Given the description of an element on the screen output the (x, y) to click on. 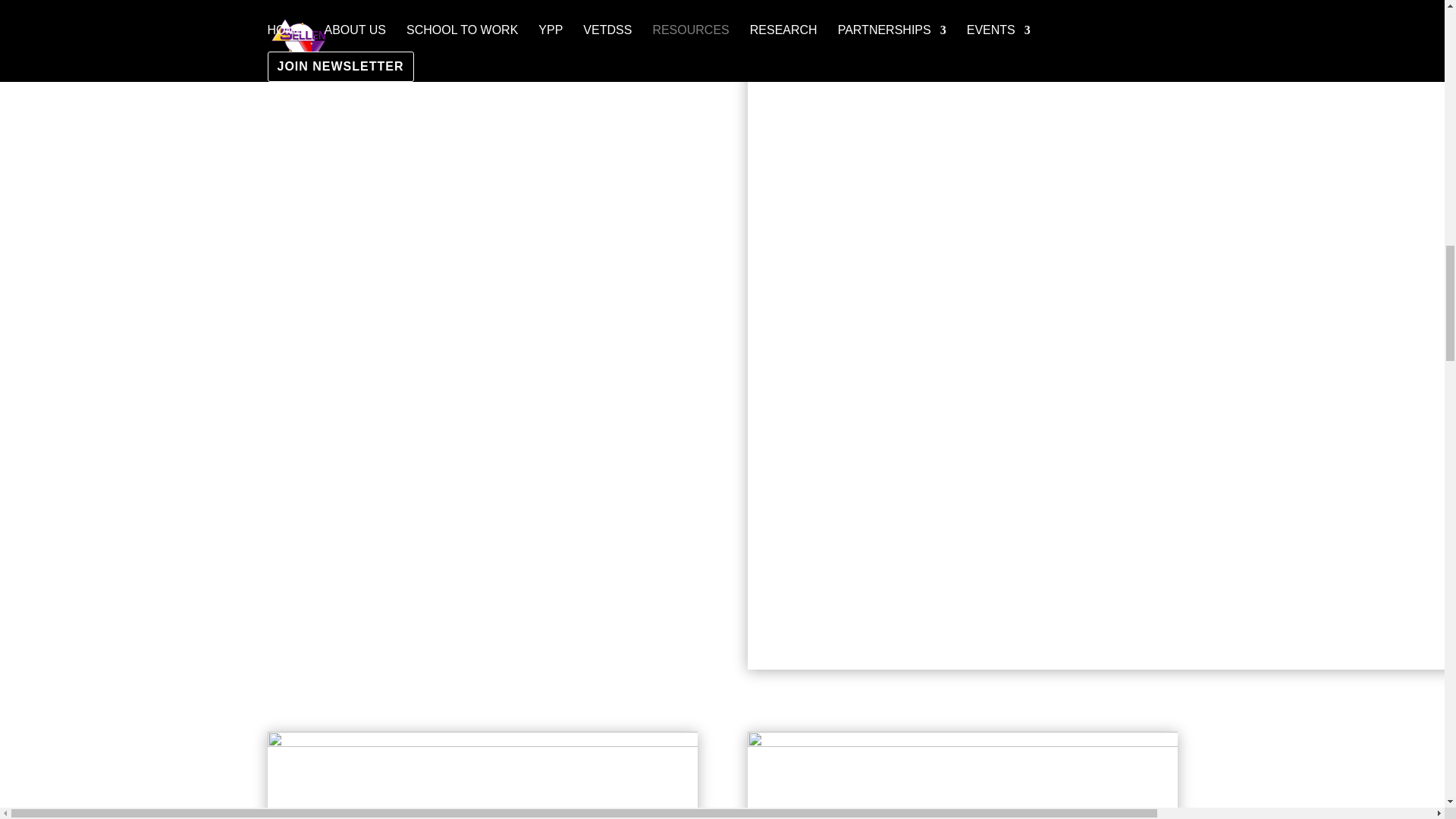
InterviewSkills (481, 775)
CoverLetter (962, 775)
